Given the description of an element on the screen output the (x, y) to click on. 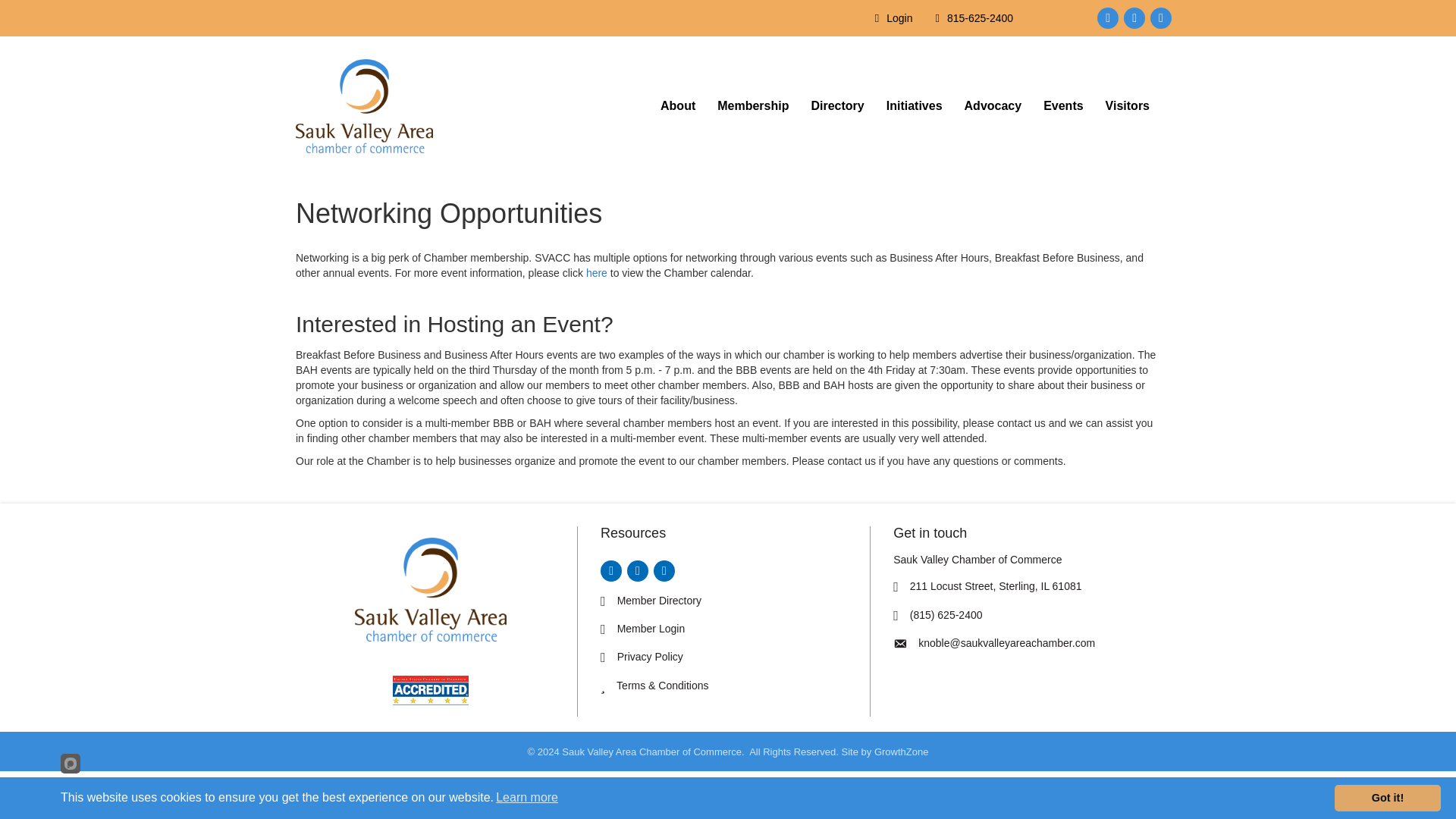
Membership (752, 105)
Advocacy (992, 105)
Events (1062, 105)
About (677, 105)
Initiatives (914, 105)
Directory (837, 105)
815-625-2400 (970, 18)
Login (889, 18)
Visitors (1127, 105)
